Given the description of an element on the screen output the (x, y) to click on. 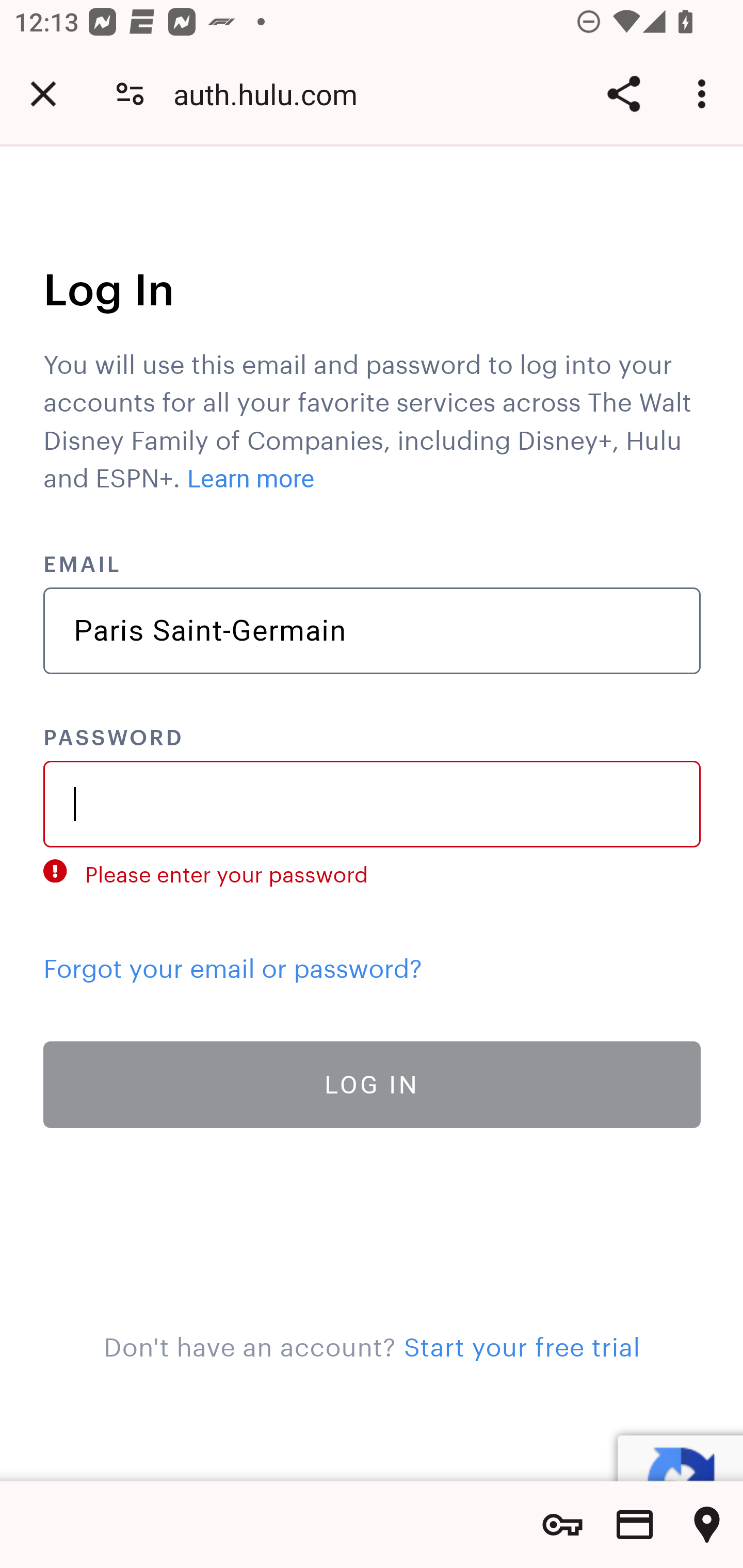
Close tab (43, 93)
Share (623, 93)
Customize and control Google Chrome (705, 93)
Connection is secure (129, 93)
auth.hulu.com (272, 93)
Learn more (250, 478)
Paris Saint-Germain (372, 630)
Forgot your email or password? (233, 963)
LOG IN (372, 1083)
Start your free trial (521, 1342)
Show saved passwords and password options (562, 1524)
Show saved payment methods (634, 1524)
Show saved addresses (706, 1524)
